Given the description of an element on the screen output the (x, y) to click on. 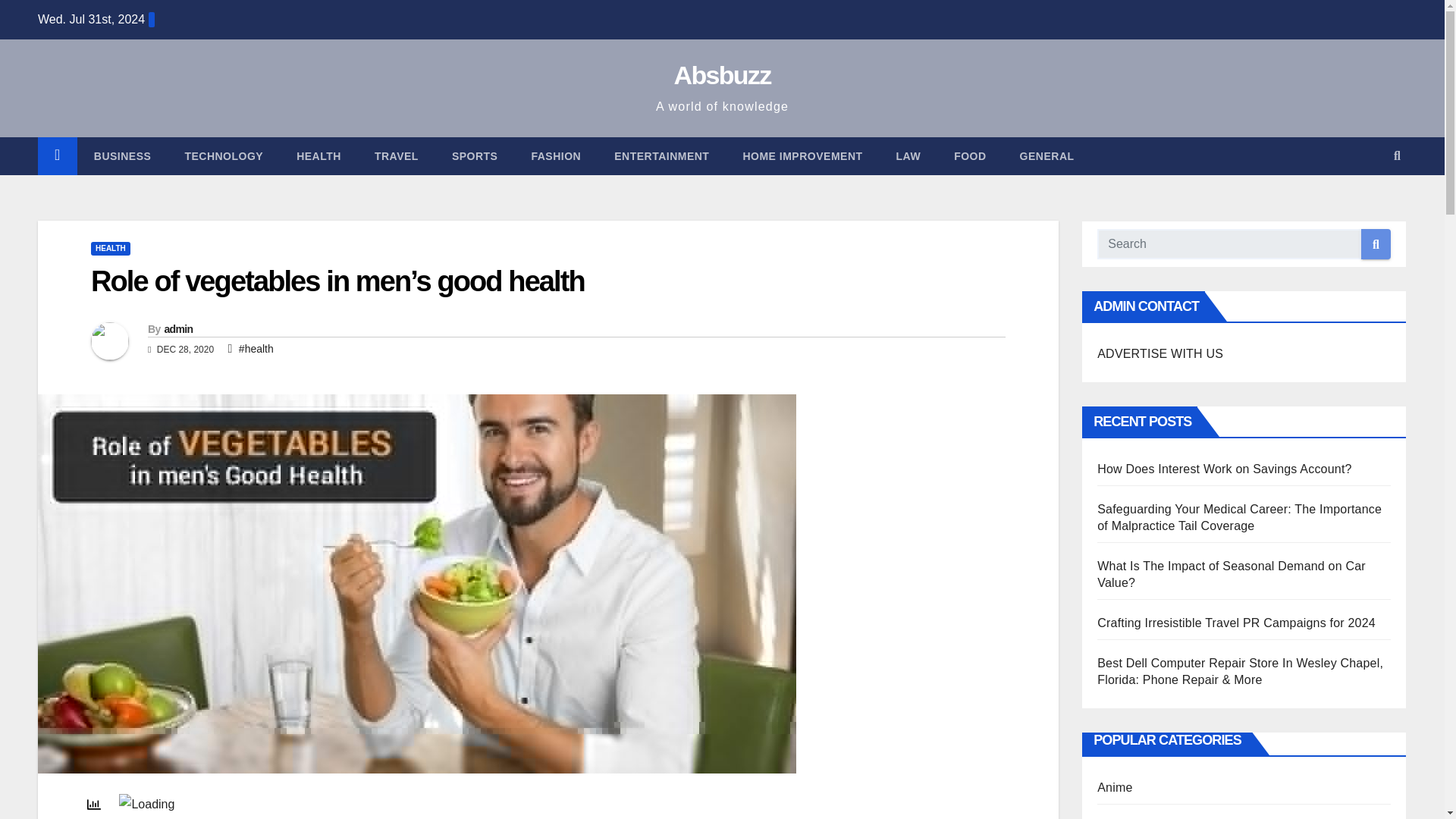
Absbuzz (722, 74)
FASHION (554, 156)
ENTERTAINMENT (660, 156)
admin (177, 328)
Travel (396, 156)
FOOD (970, 156)
TRAVEL (396, 156)
HEALTH (110, 248)
Law (908, 156)
BUSINESS (122, 156)
General (1046, 156)
Business (122, 156)
SPORTS (475, 156)
Sports (475, 156)
LAW (908, 156)
